Given the description of an element on the screen output the (x, y) to click on. 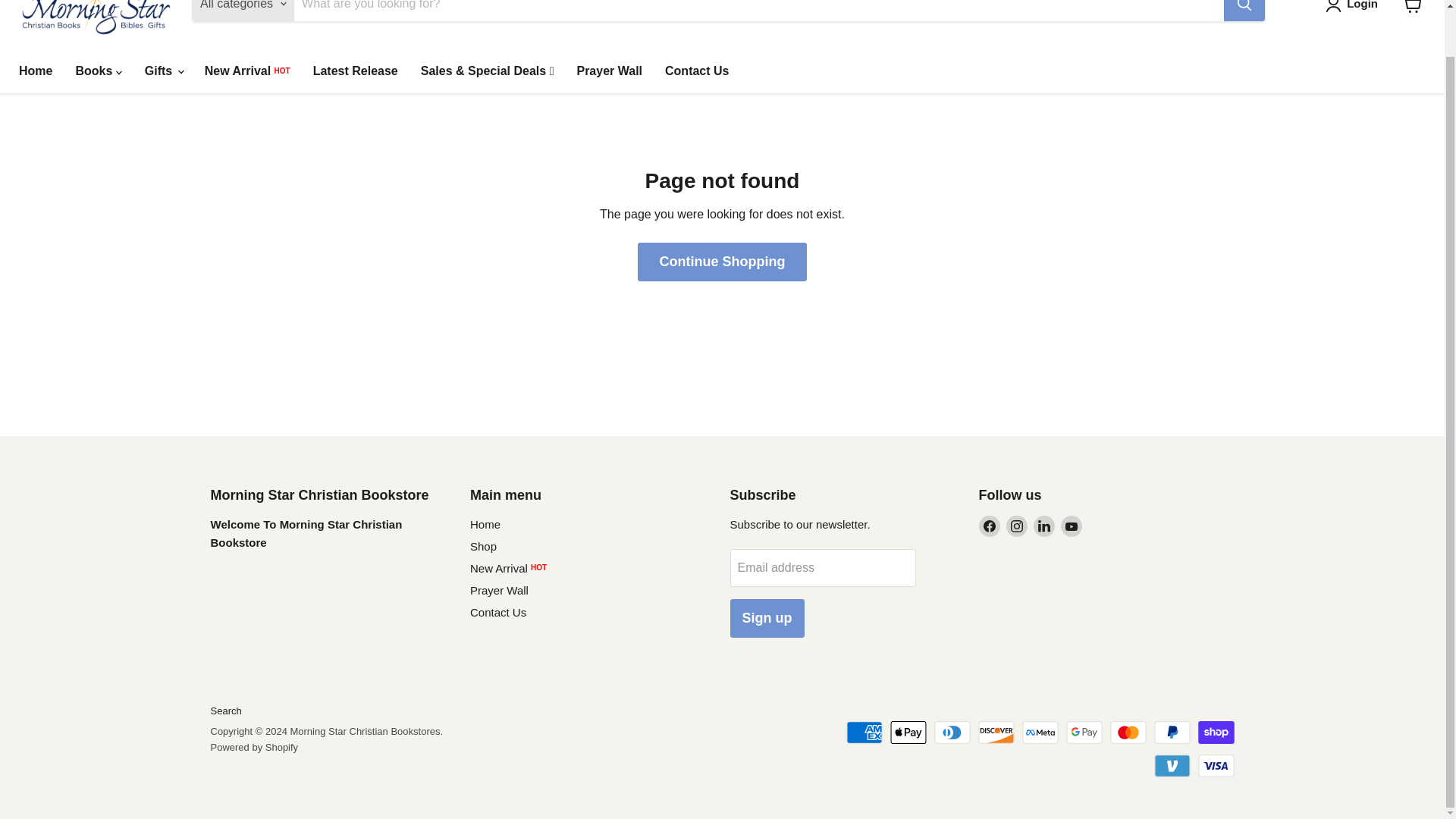
Contact Us (696, 70)
LinkedIn (1043, 526)
Facebook (988, 526)
Prayer Wall (608, 70)
Discover (996, 732)
YouTube (1070, 526)
Google Pay (1083, 732)
Instagram (1016, 526)
Mastercard (1128, 732)
View cart (1411, 10)
